Given the description of an element on the screen output the (x, y) to click on. 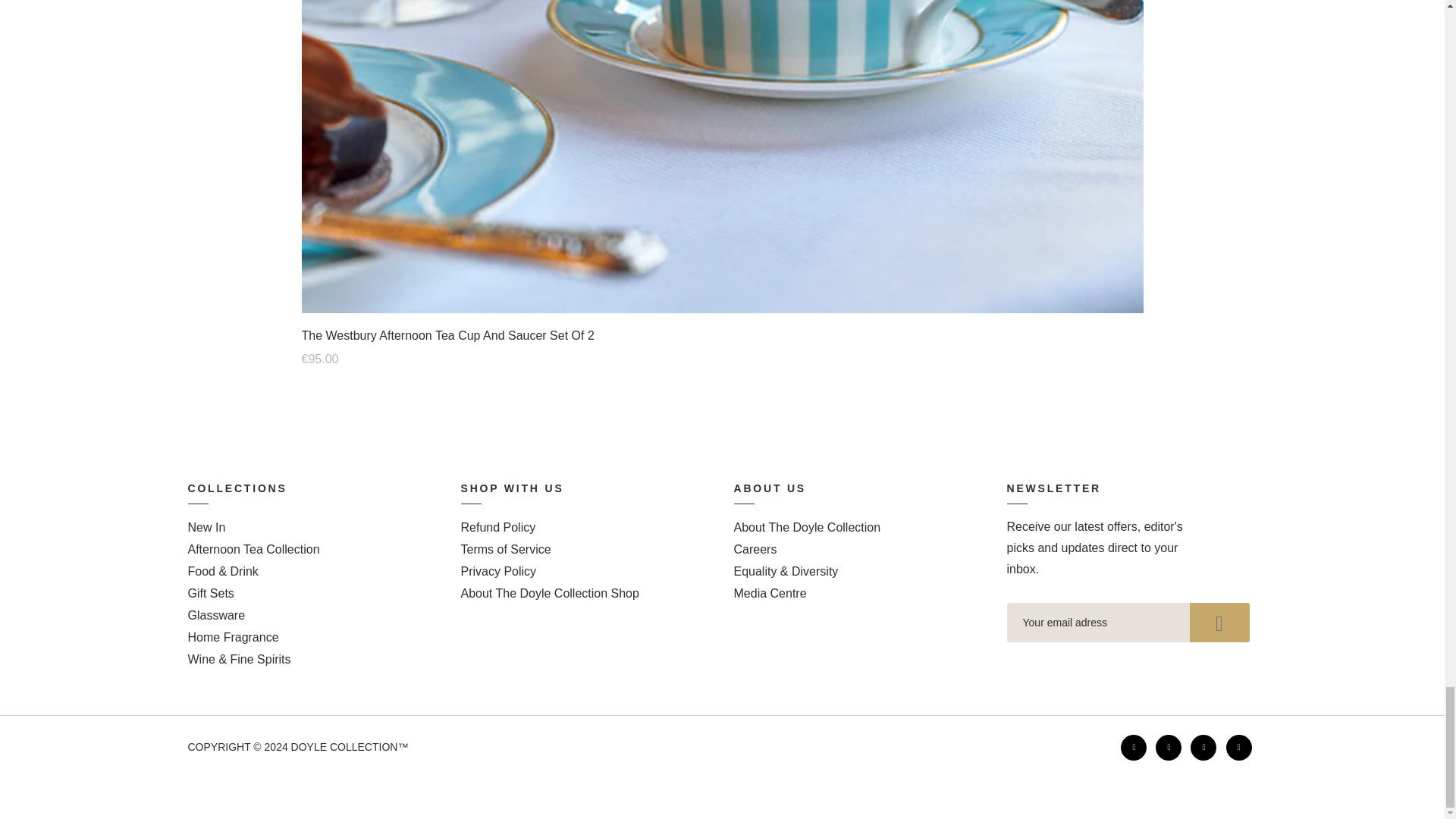
Gift Sets (210, 593)
New In (206, 526)
Home Fragrance (233, 636)
Afternoon Tea Collection (253, 549)
Refund Policy (498, 526)
Glassware (216, 615)
Terms of Service (506, 549)
